Given the description of an element on the screen output the (x, y) to click on. 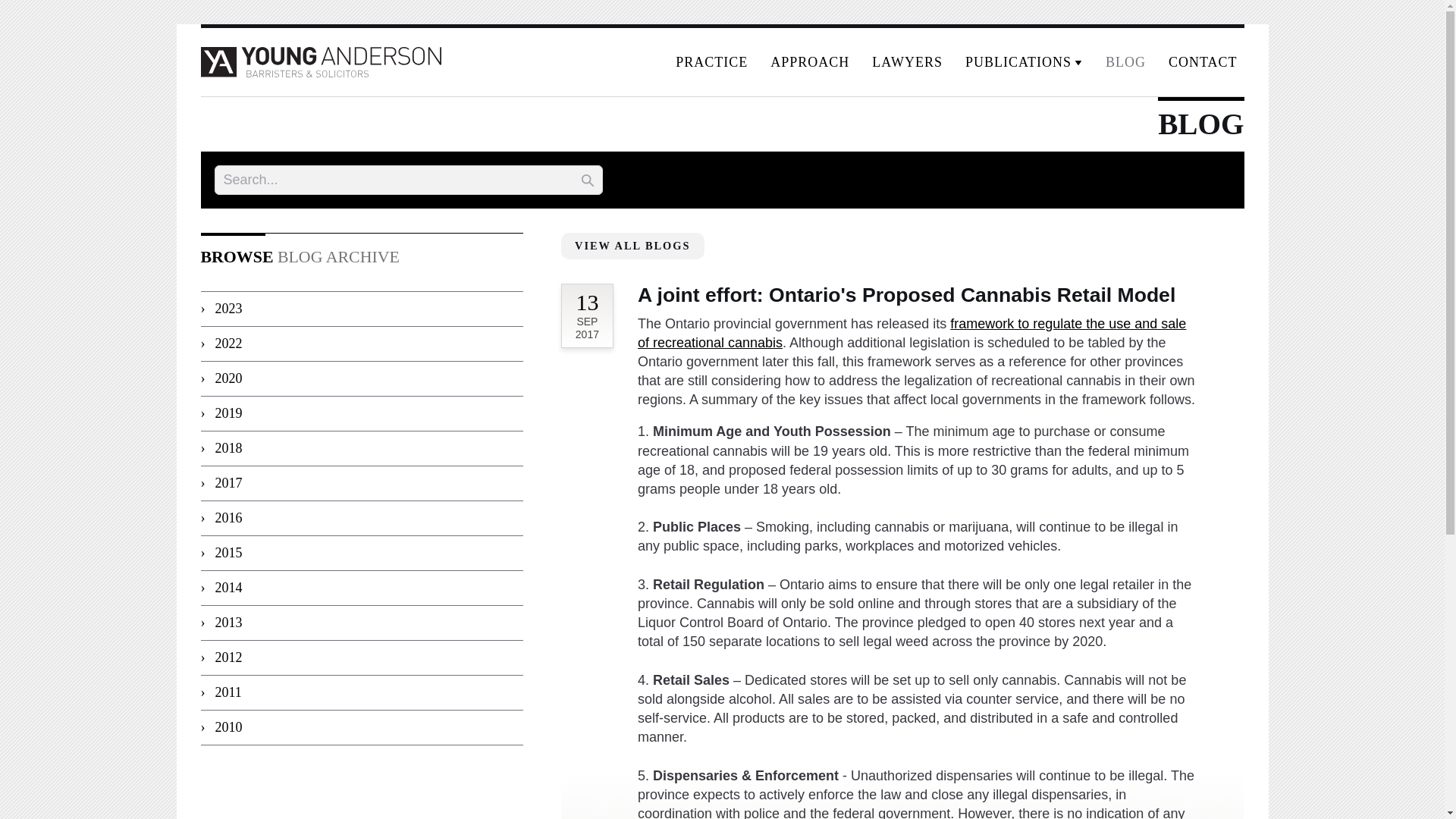
2018 (361, 448)
2013 (361, 623)
2015 (361, 553)
PUBLICATIONS (1023, 62)
2016 (361, 518)
2010 (361, 727)
PRACTICE (711, 62)
BLOG (1126, 62)
APPROACH (809, 62)
2011 (361, 692)
2022 (361, 343)
2019 (361, 413)
2017 (361, 483)
2020 (361, 378)
LAWYERS (906, 62)
